Given the description of an element on the screen output the (x, y) to click on. 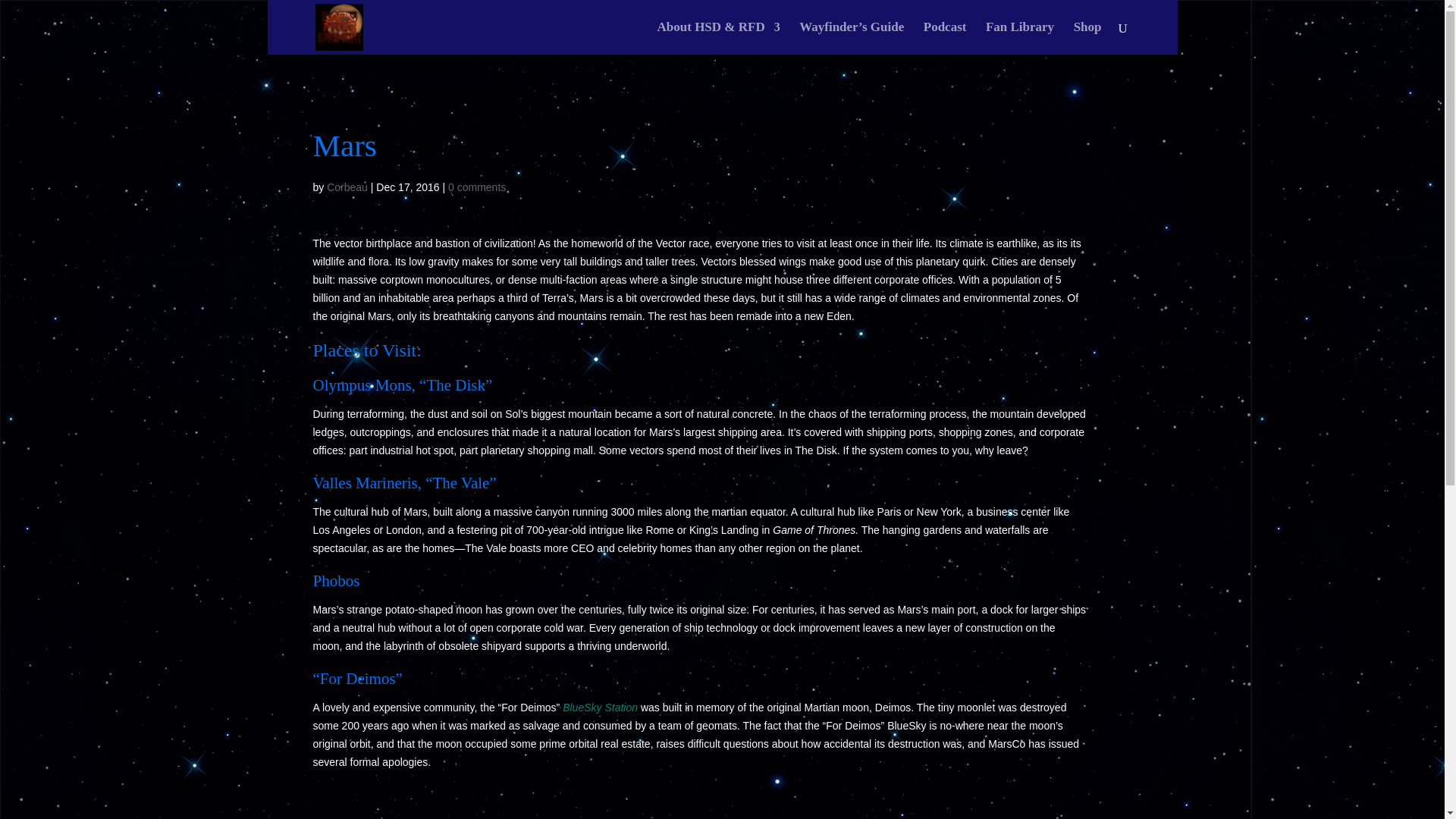
0 comments (476, 186)
Posts by Corbeau (347, 186)
Corbeau (347, 186)
Podcast (944, 38)
Fan Library (1019, 38)
